Given the description of an element on the screen output the (x, y) to click on. 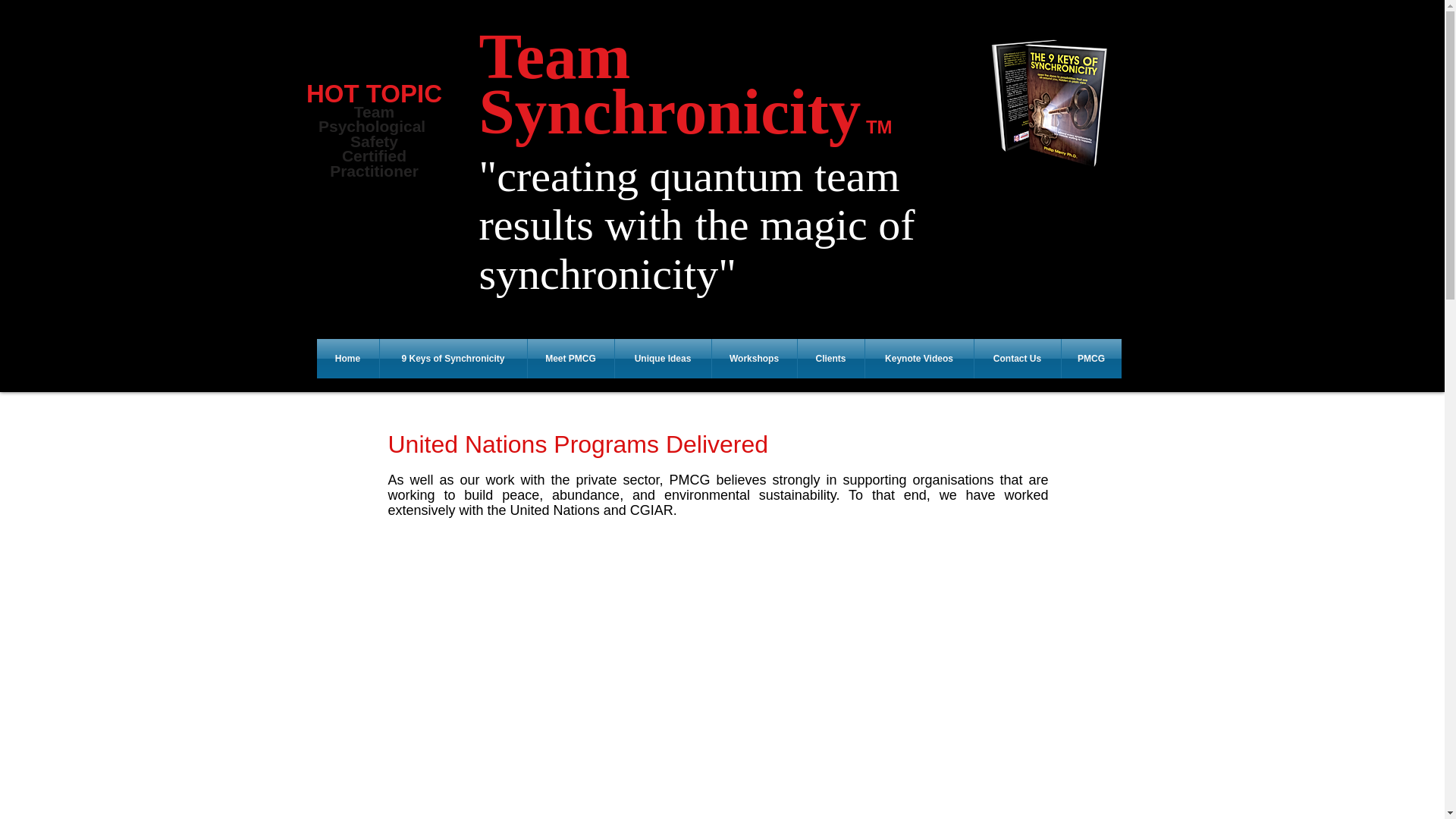
Home (347, 358)
PMCG (1091, 358)
9 Keys of Synchronicity (380, 150)
HOT TOPIC (451, 358)
Contact Us (373, 97)
Keynote Videos (1016, 358)
